Given the description of an element on the screen output the (x, y) to click on. 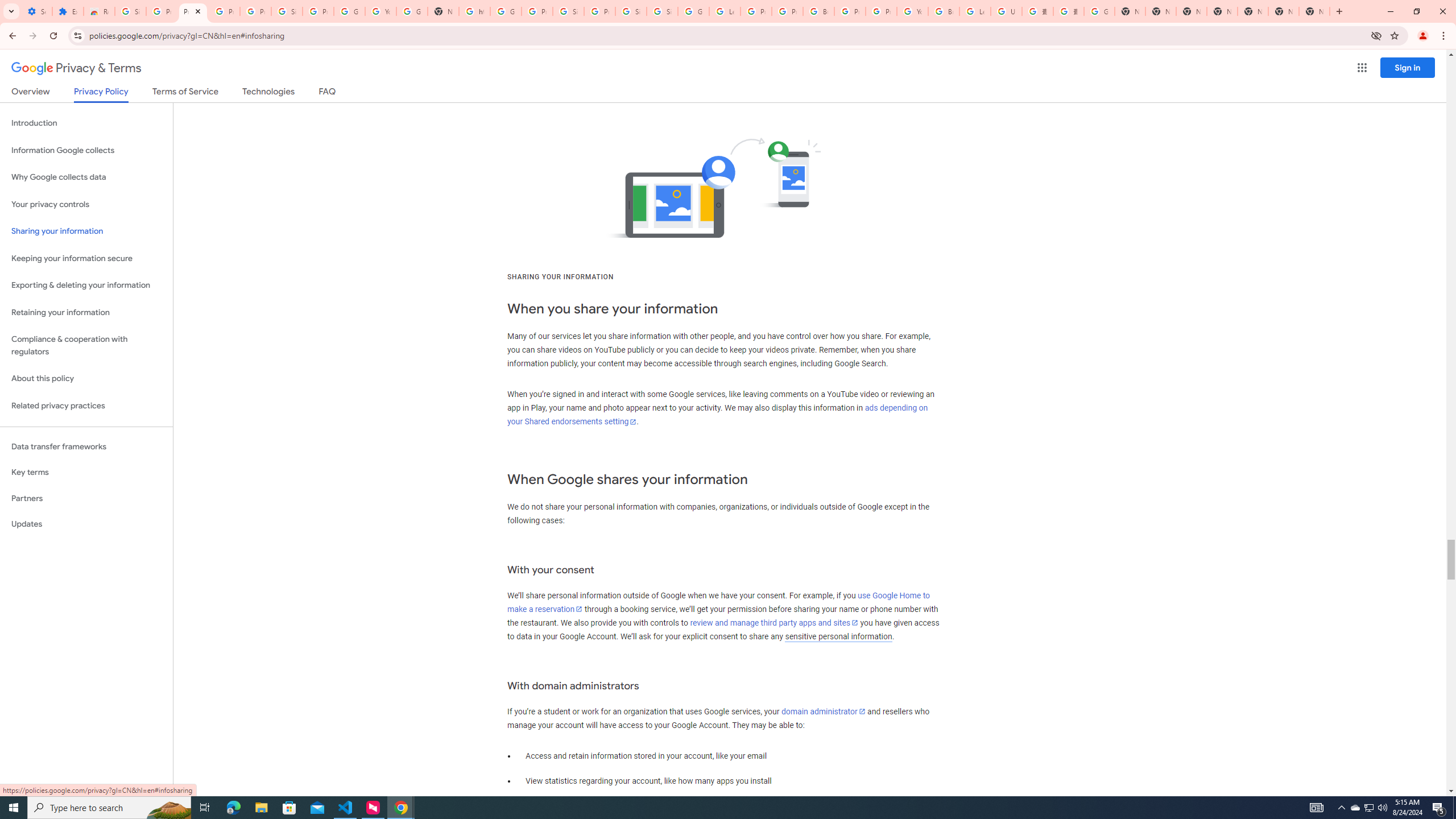
Google Account (349, 11)
sensitive personal information (838, 636)
ads depending on your Shared endorsements setting (717, 414)
domain administrator (823, 710)
Google Images (1098, 11)
Sign in - Google Accounts (631, 11)
